Given the description of an element on the screen output the (x, y) to click on. 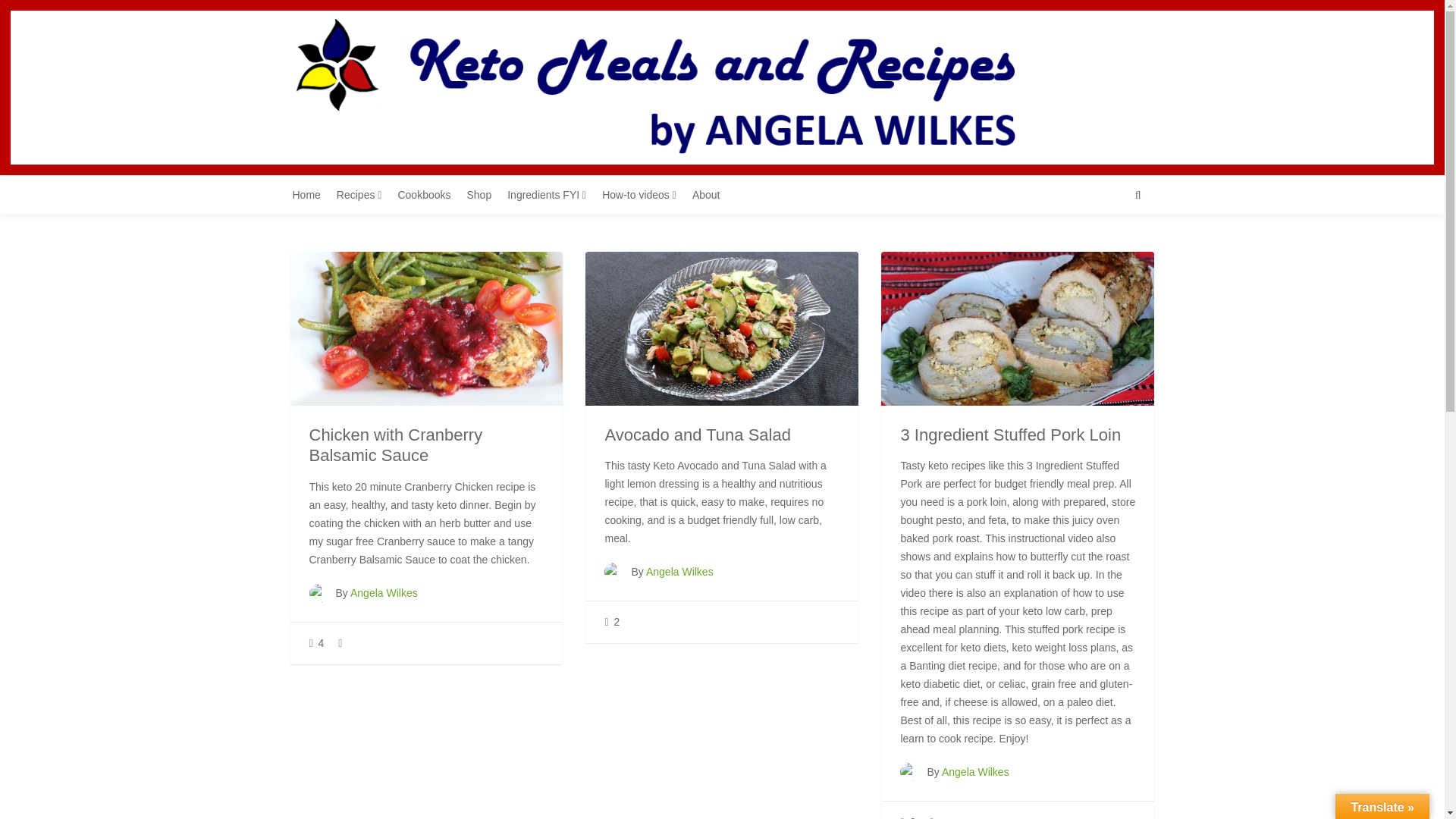
Home (311, 194)
Recipes (364, 194)
LOG IN (1126, 100)
Ingredients FYI (551, 194)
REGISTER (1118, 75)
About (712, 194)
Cookbooks (429, 194)
How-to videos (644, 194)
Shop (485, 194)
